Given the description of an element on the screen output the (x, y) to click on. 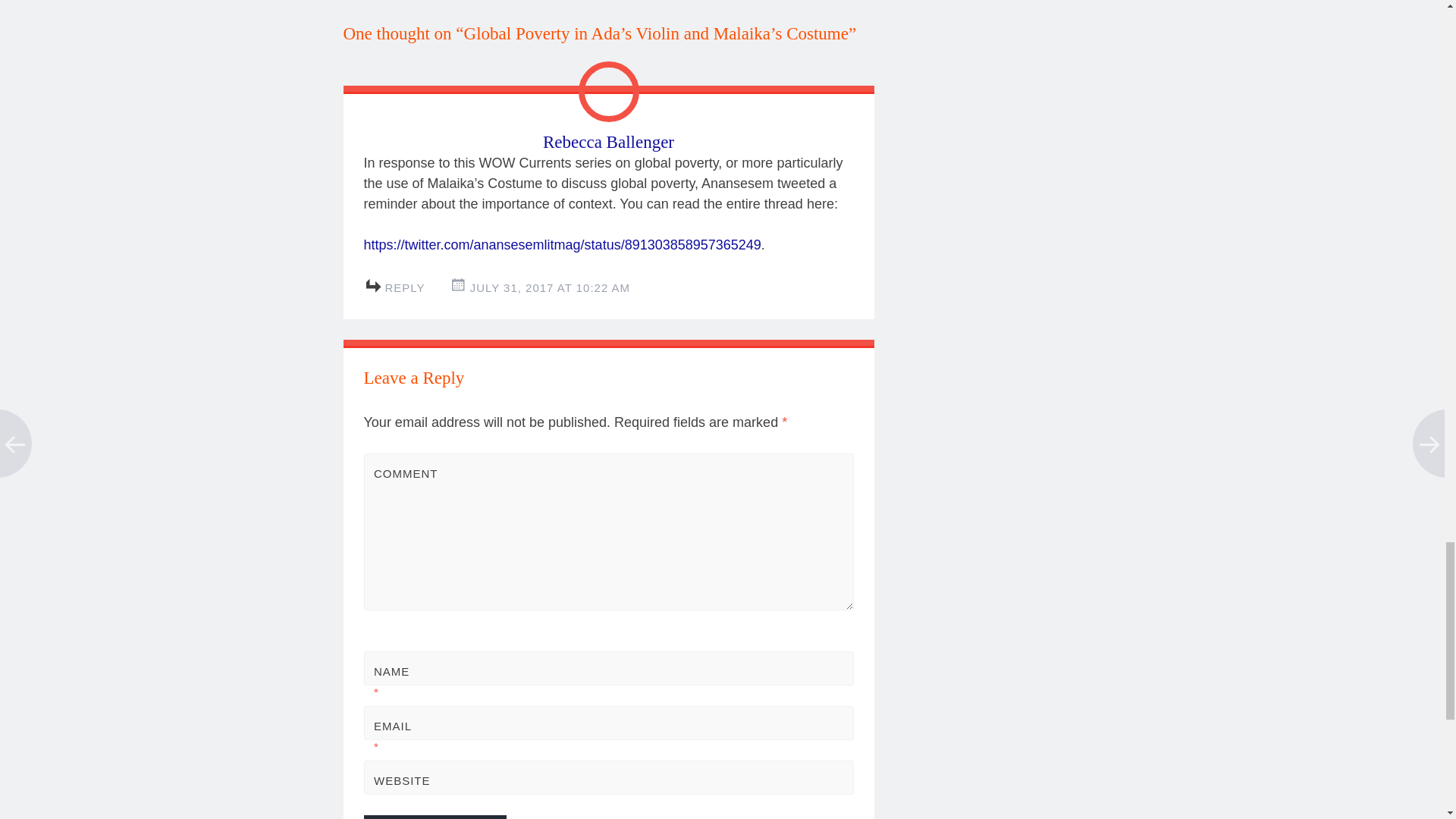
Post Comment (435, 816)
